Given the description of an element on the screen output the (x, y) to click on. 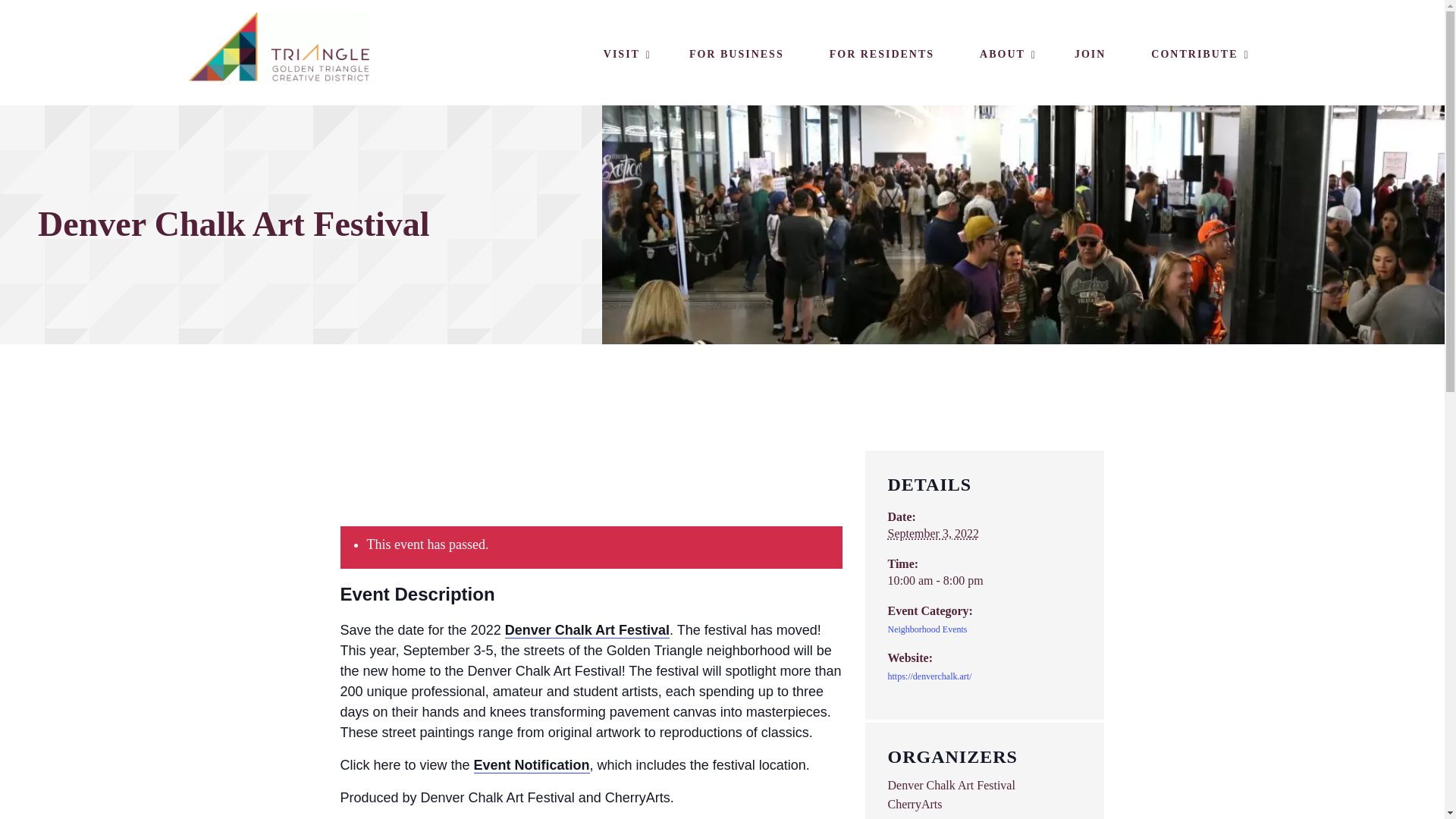
ABOUT (1003, 54)
Event Notification (531, 764)
CONTRIBUTE (1195, 54)
VISIT (623, 54)
FOR RESIDENTS (881, 54)
2022-09-03 (932, 533)
FOR BUSINESS (736, 54)
2022-09-03 (983, 580)
JOIN (1090, 54)
Neighborhood Events (926, 629)
Denver Chalk Art Festival (587, 629)
